Given the description of an element on the screen output the (x, y) to click on. 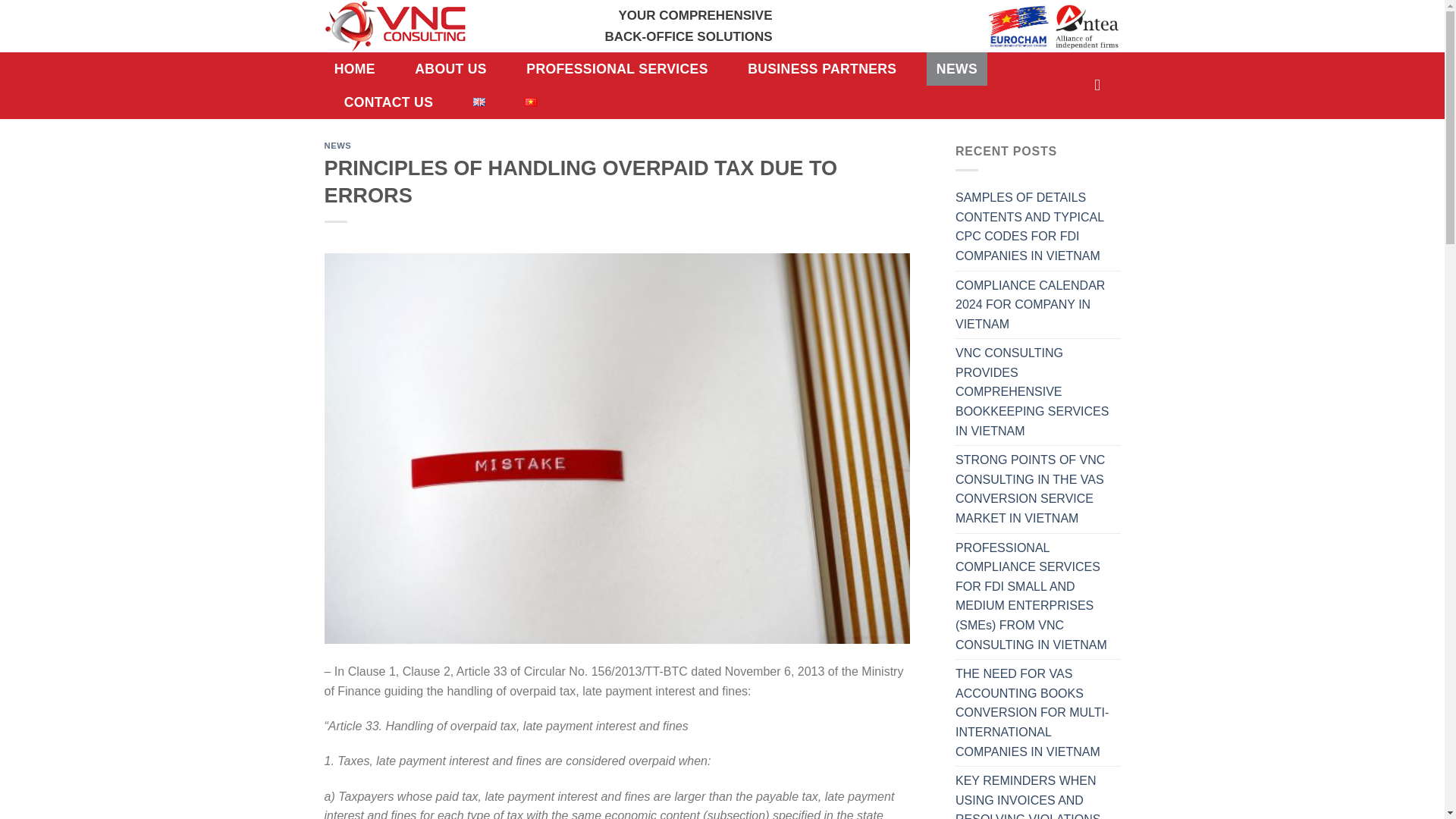
NEWS (957, 68)
BUSINESS PARTNERS (822, 68)
CONTACT US (387, 101)
NEWS (338, 144)
PROFESSIONAL SERVICES (616, 68)
